Given the description of an element on the screen output the (x, y) to click on. 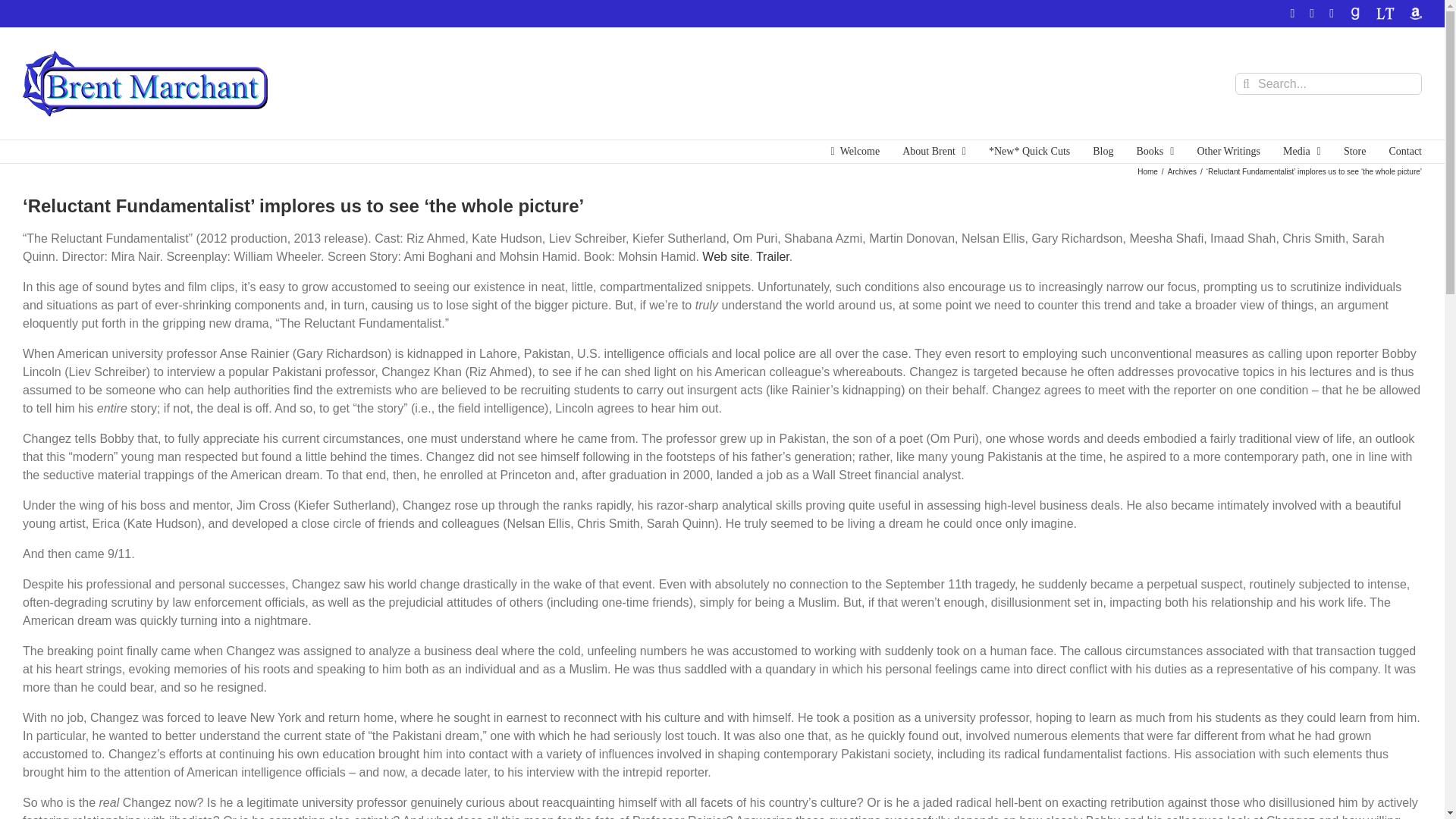
Welcome (855, 151)
Other Writings (1228, 151)
Store (1355, 151)
Contact (1405, 151)
Amazon (1415, 13)
About Brent (934, 151)
Amazon (1415, 13)
LibraryThing (1384, 13)
Blog (1103, 151)
Media (1301, 151)
